Given the description of an element on the screen output the (x, y) to click on. 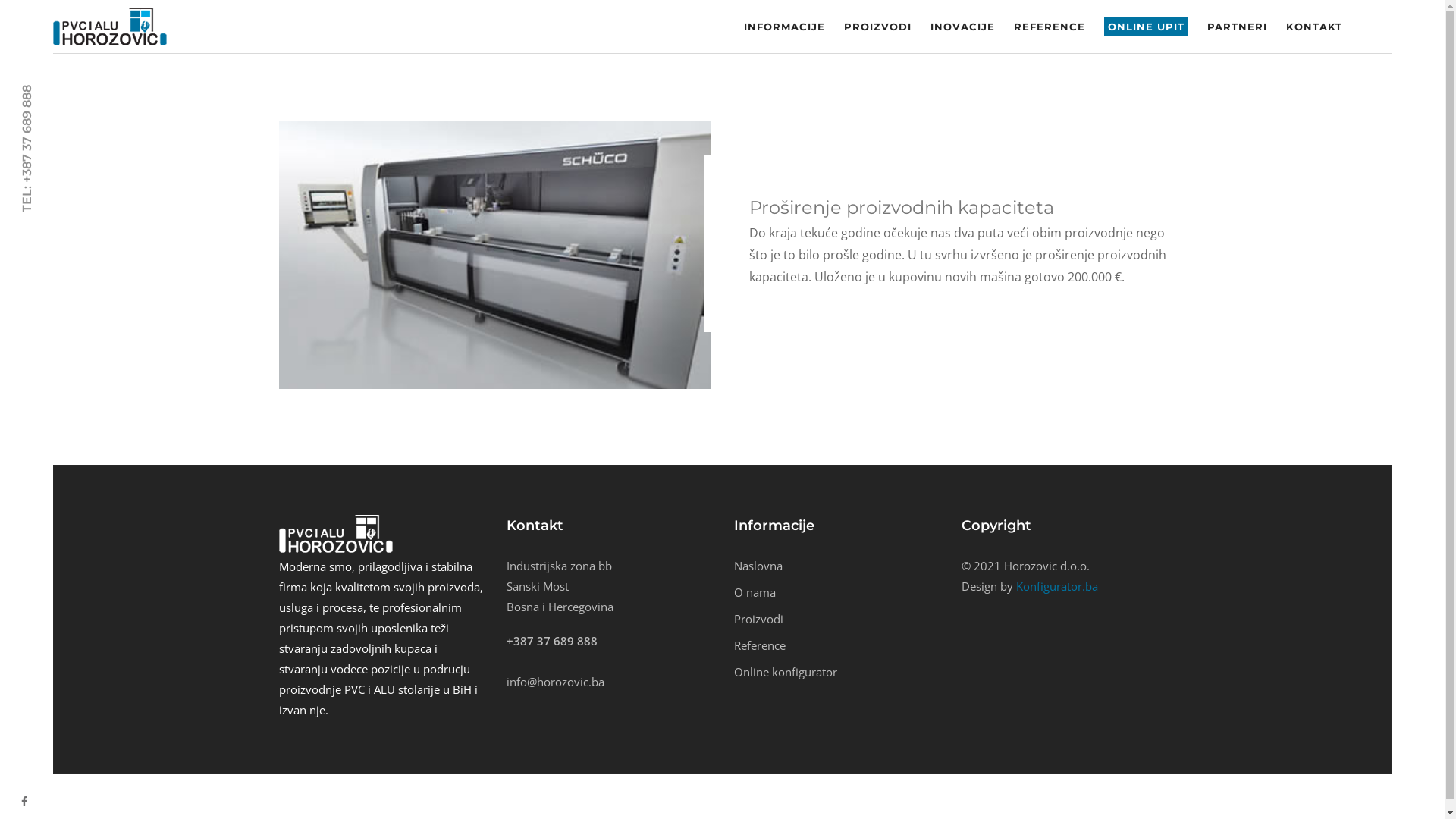
PROIZVODI Element type: text (877, 26)
INOVACIJE Element type: text (962, 26)
PARTNERI Element type: text (1237, 26)
O nama Element type: text (754, 591)
Naslovna Element type: text (758, 565)
Reference Element type: text (759, 644)
KONTAKT Element type: text (1314, 26)
Proizvodi Element type: text (758, 618)
Konfigurator.ba Element type: text (1057, 585)
Online konfigurator Element type: text (785, 671)
INFORMACIJE Element type: text (784, 26)
REFERENCE Element type: text (1049, 26)
ONLINE UPIT Element type: text (1146, 26)
